Given the description of an element on the screen output the (x, y) to click on. 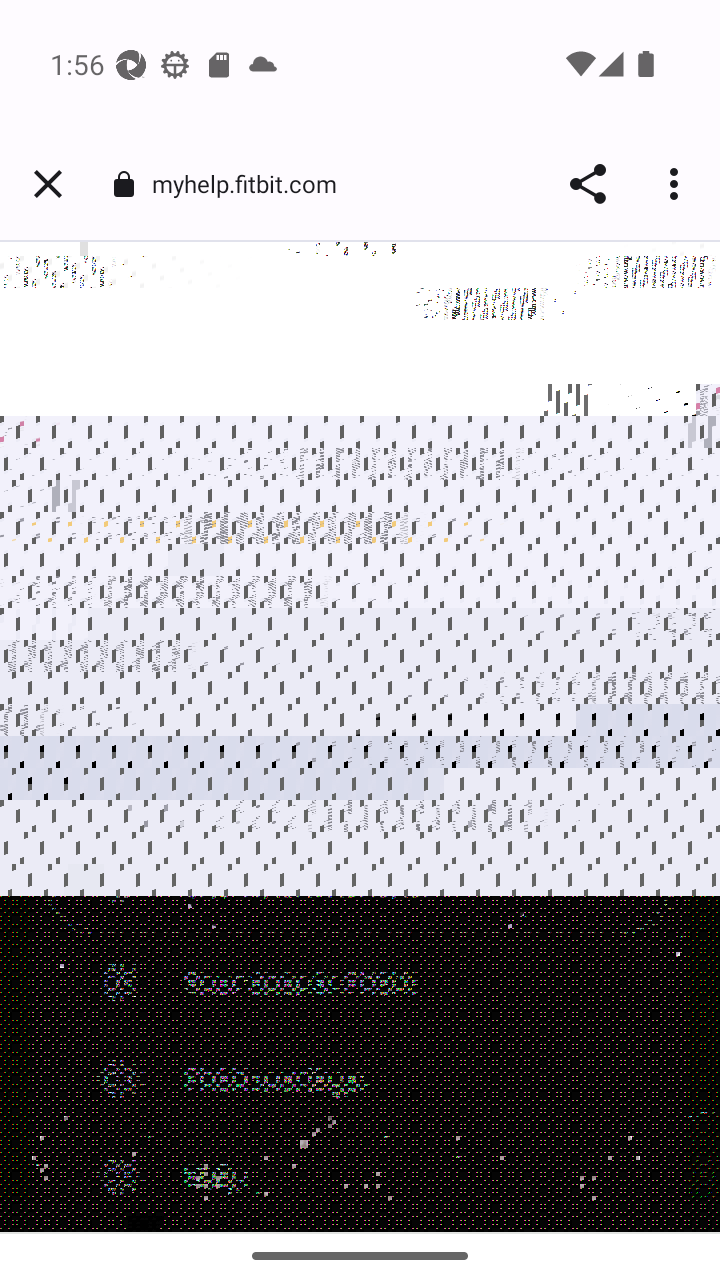
Close tab (47, 184)
Share (587, 184)
More options (677, 184)
Connection is secure (123, 183)
myhelp.fitbit.com (251, 182)
